Given the description of an element on the screen output the (x, y) to click on. 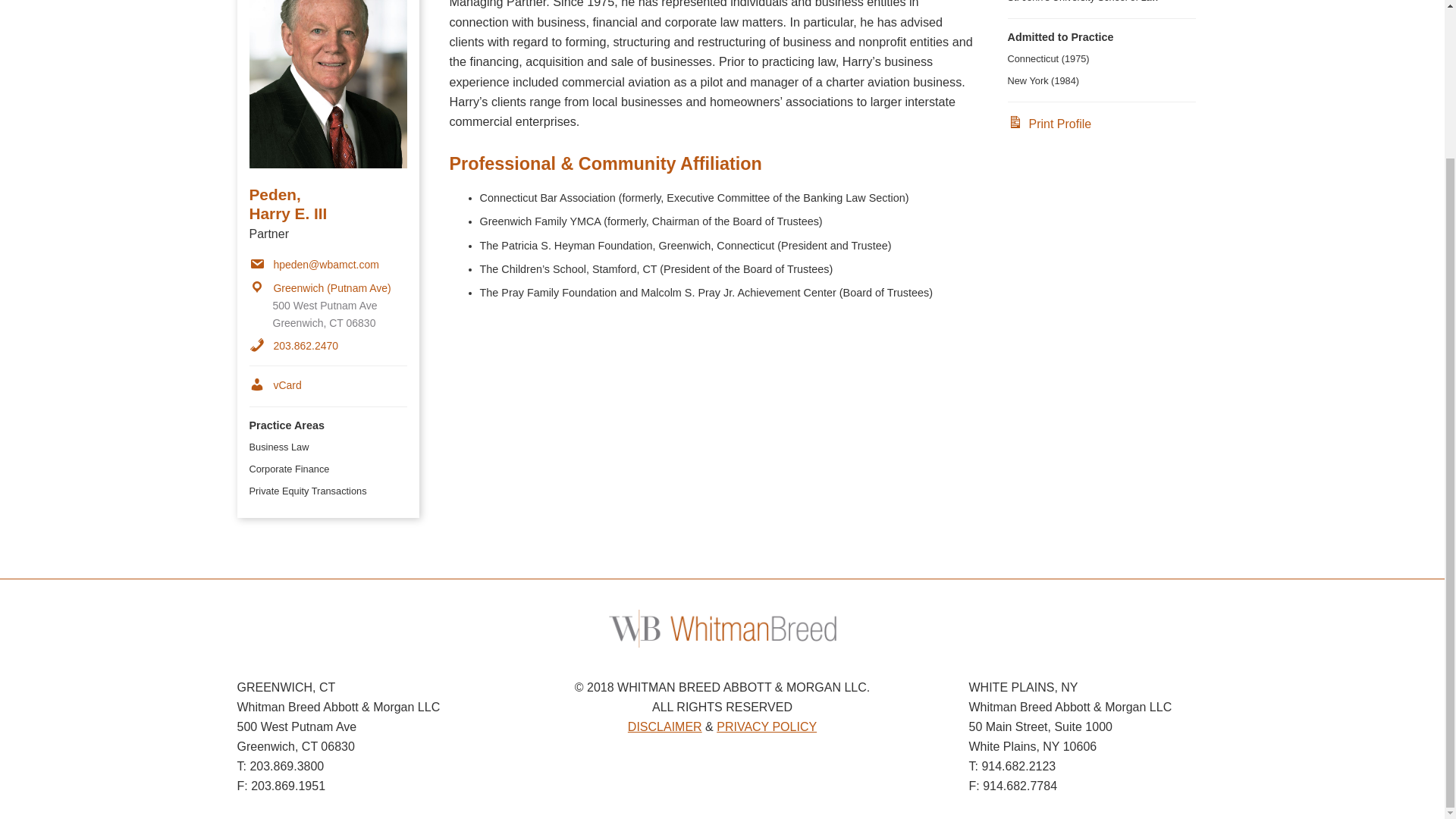
DISCLAIMER (664, 726)
Print Profile (1048, 123)
vCard (274, 385)
PRIVACY POLICY (766, 726)
203.862.2470 (292, 345)
